Given the description of an element on the screen output the (x, y) to click on. 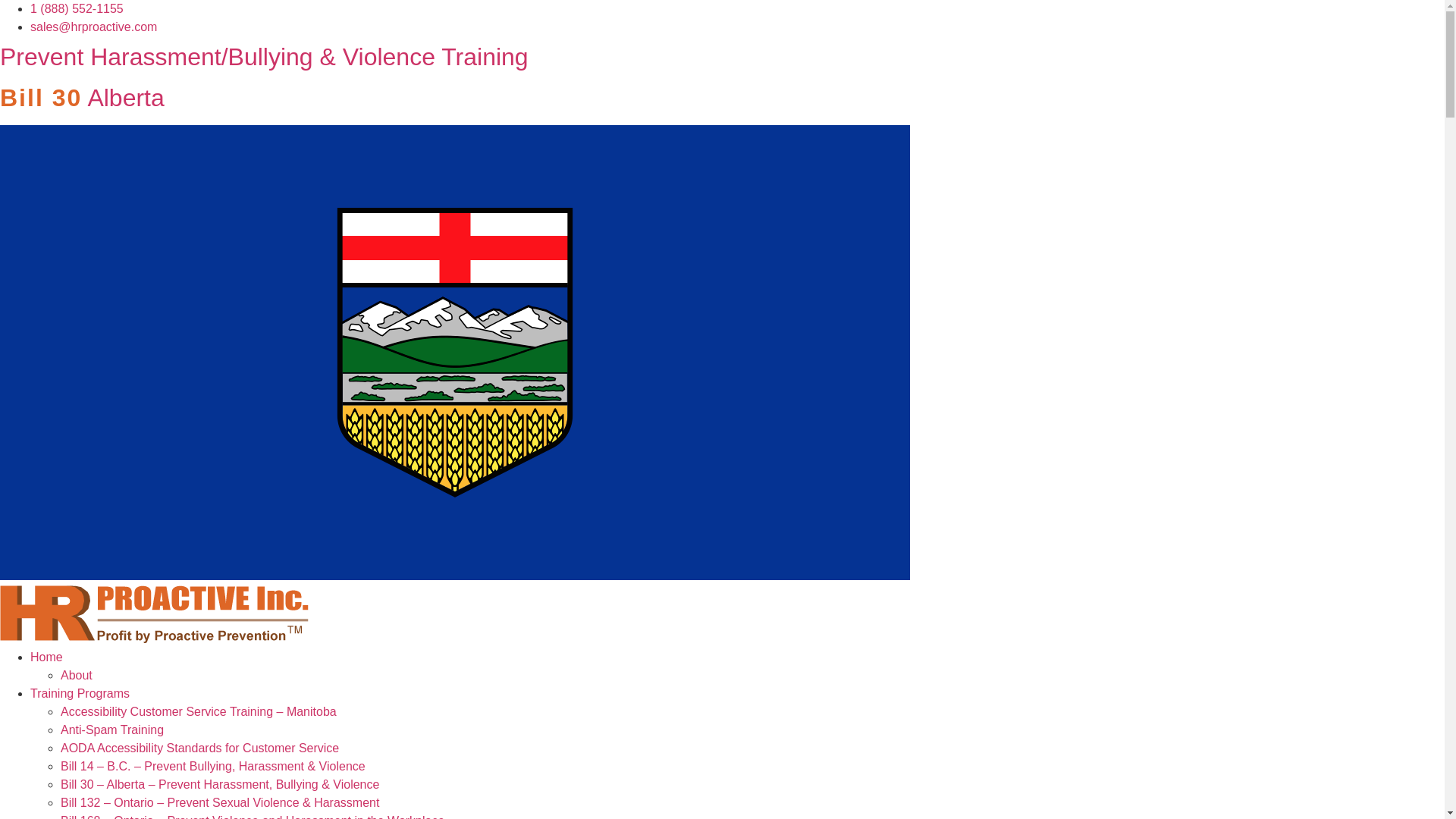
Anti-Spam Training Element type: text (111, 729)
Training Programs Element type: text (79, 693)
Prevent Harassment/Bullying & Violence Training Element type: text (264, 56)
sales@hrproactive.com Element type: text (93, 26)
AODA Accessibility Standards for Customer Service Element type: text (199, 747)
About Element type: text (76, 674)
Home Element type: text (46, 656)
1 (888) 552-1155 Element type: text (76, 8)
Bill 30 Alberta Element type: text (82, 97)
